Given the description of an element on the screen output the (x, y) to click on. 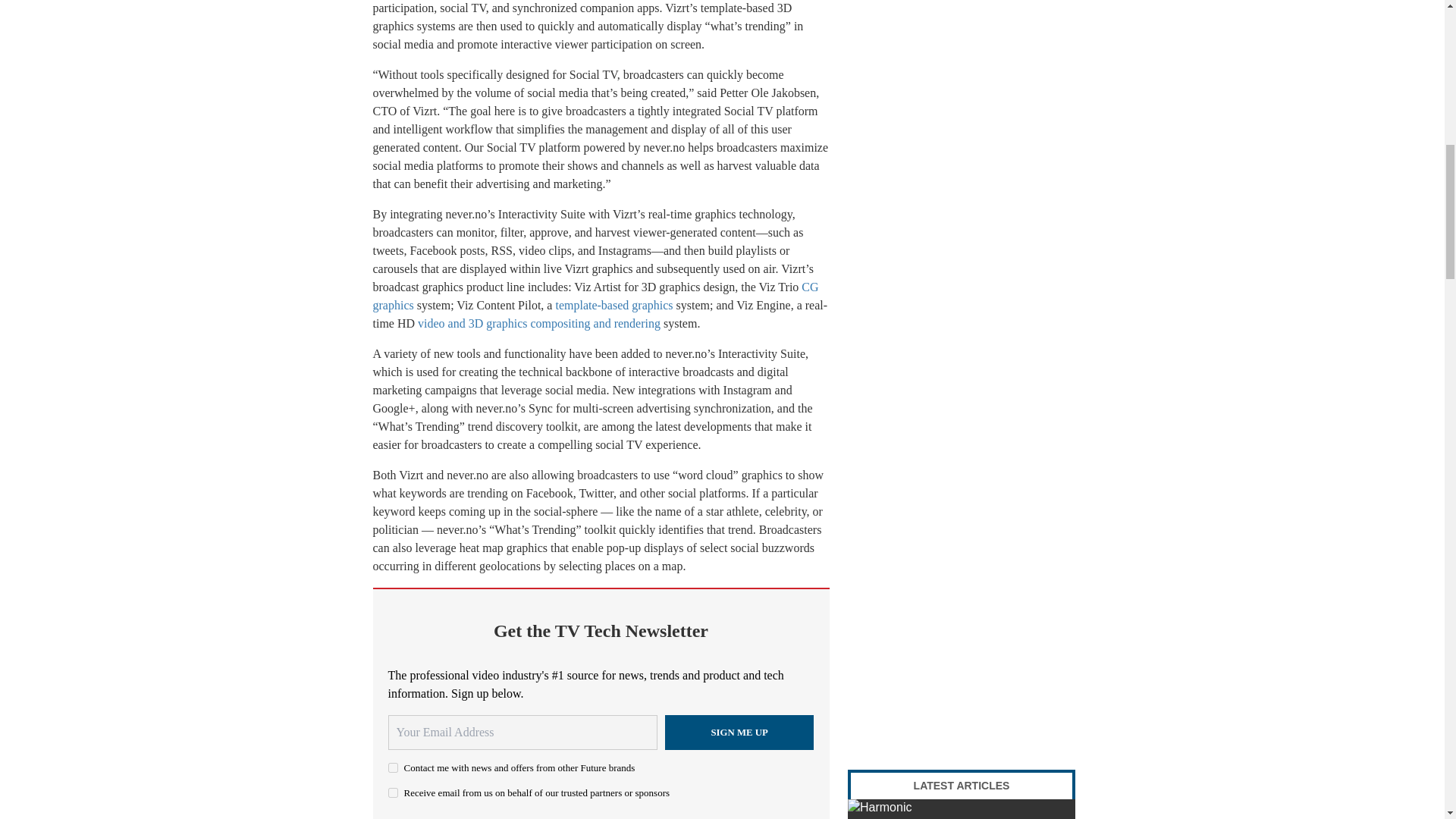
on (392, 792)
CG graphics (595, 296)
video and 3D graphics compositing and rendering (539, 323)
template-based graphics (613, 305)
Sign me up (739, 732)
on (392, 767)
Sign me up (739, 732)
